Given the description of an element on the screen output the (x, y) to click on. 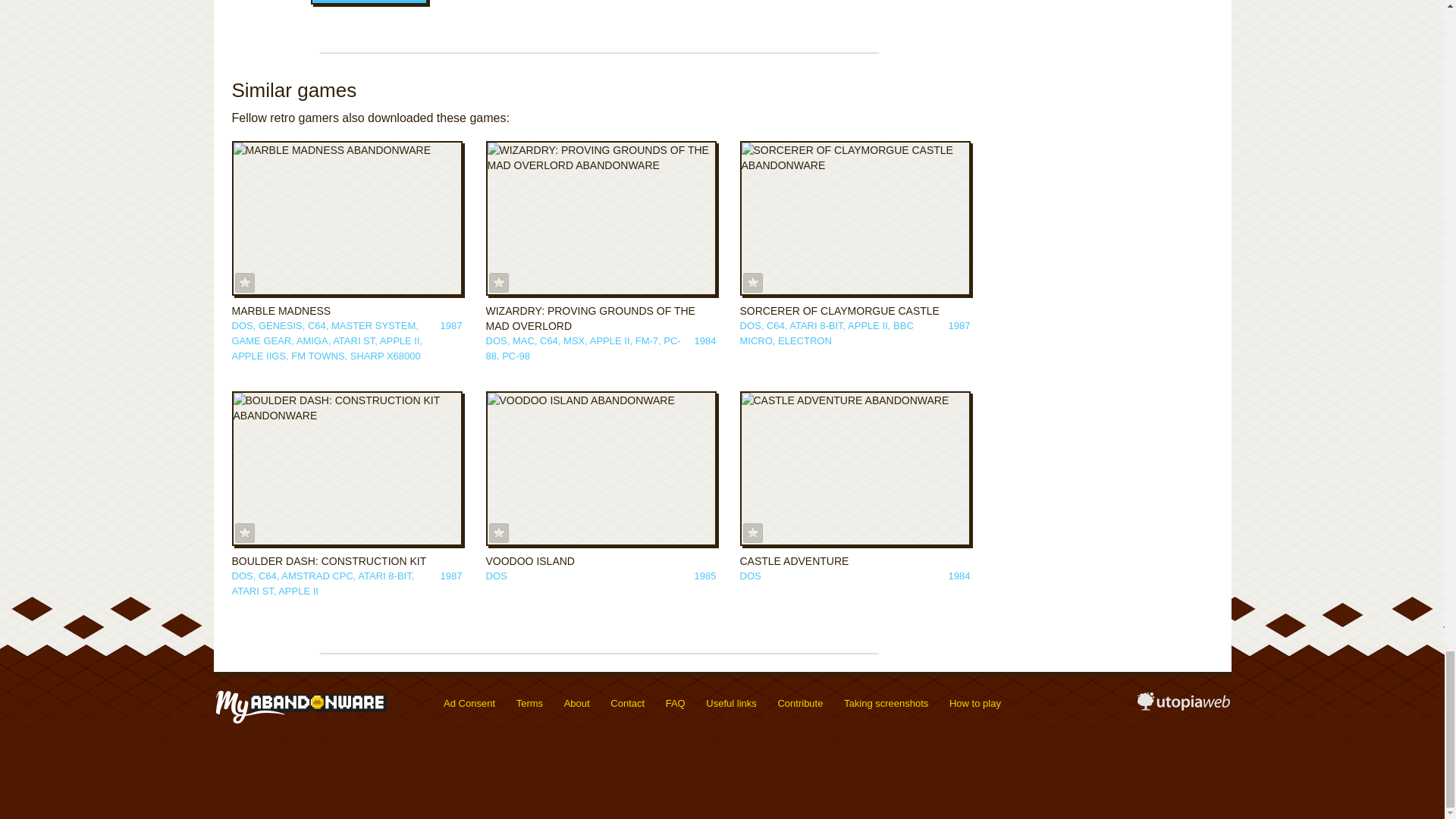
Visit utopiaweb website (1183, 706)
